Given the description of an element on the screen output the (x, y) to click on. 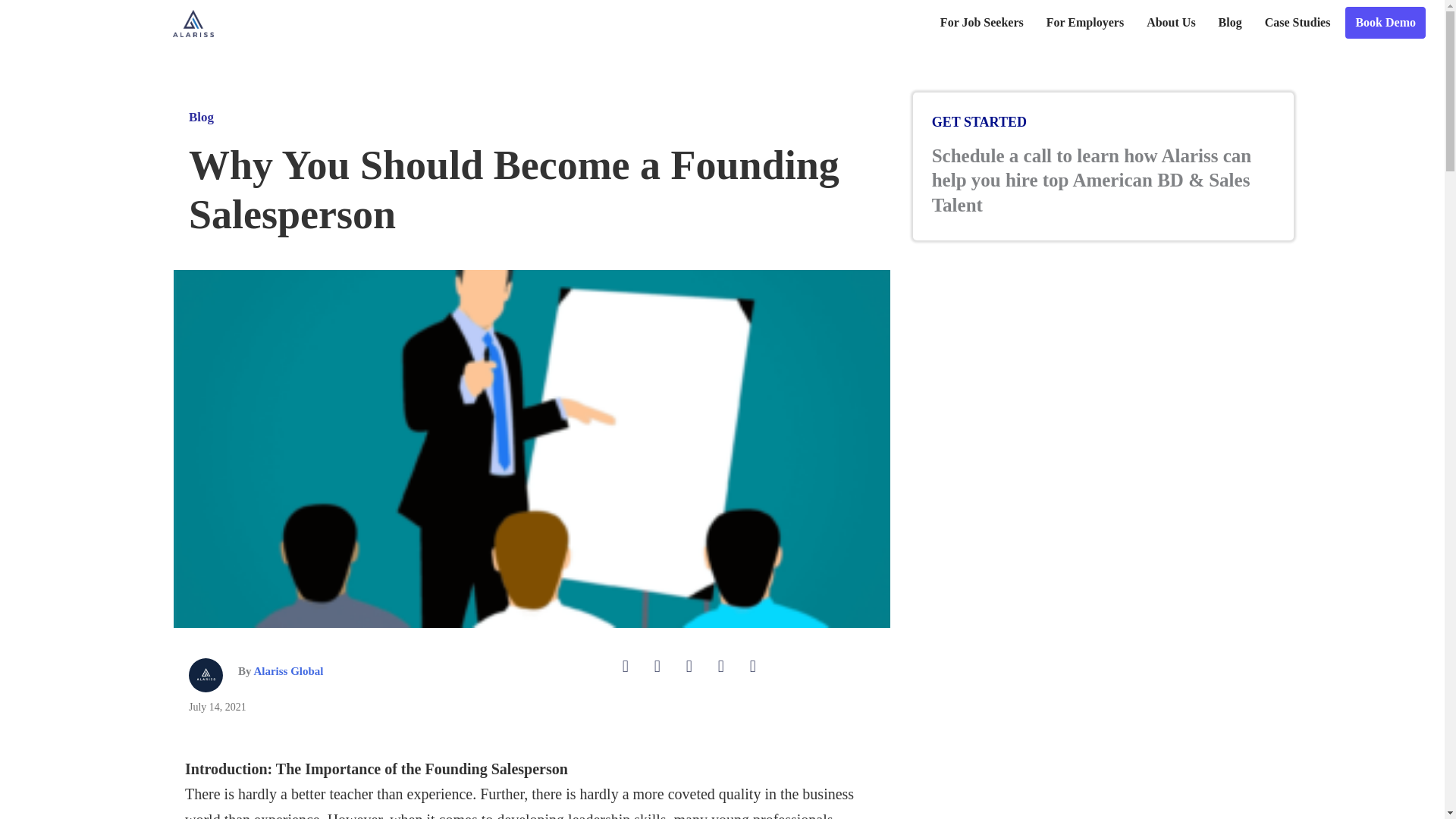
Blog (1230, 22)
For Employers (1085, 22)
Book Demo (1385, 22)
For Job Seekers (981, 22)
About Us (1170, 22)
Case Studies (1297, 22)
